Given the description of an element on the screen output the (x, y) to click on. 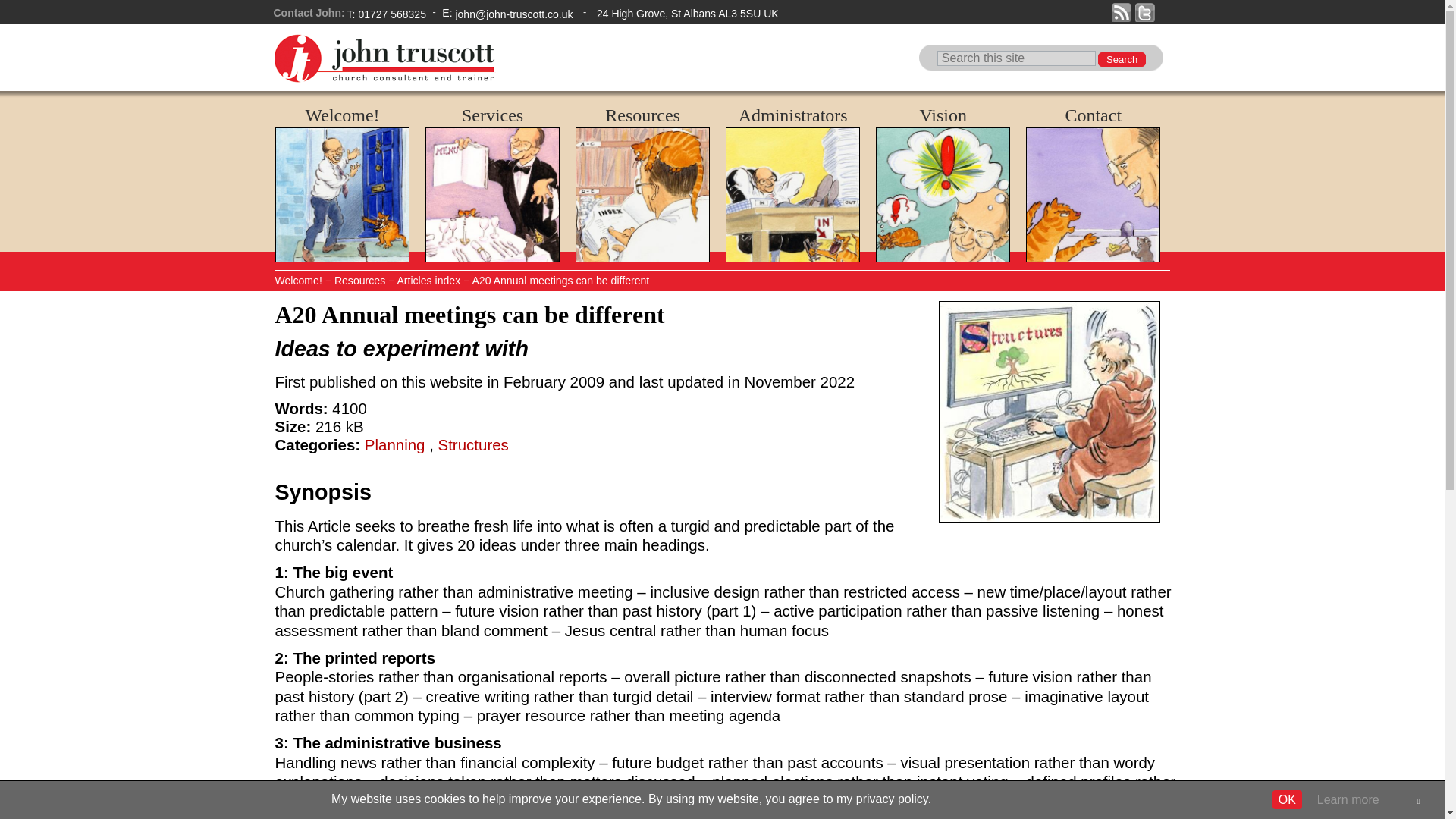
Welcome! (342, 194)
Services (491, 115)
Services (491, 115)
Welcome! (342, 115)
John Truscott - church consultant and trainer (383, 81)
Services (492, 194)
Welcome! (342, 115)
Search (1121, 59)
T: 01727 568325 (386, 15)
Search (1121, 59)
Keep up to date with John's news via our RSS feed (1121, 12)
